Given the description of an element on the screen output the (x, y) to click on. 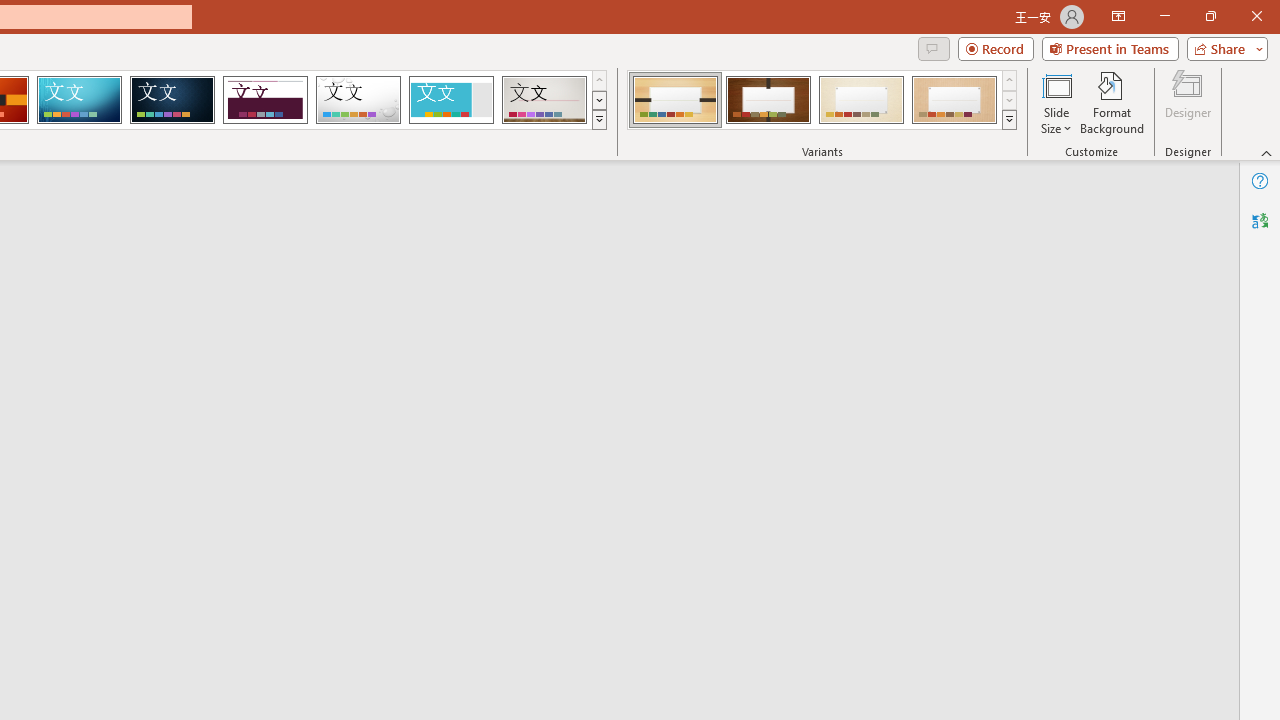
Circuit (79, 100)
Frame (450, 100)
Variants (1009, 120)
Droplet (358, 100)
